Given the description of an element on the screen output the (x, y) to click on. 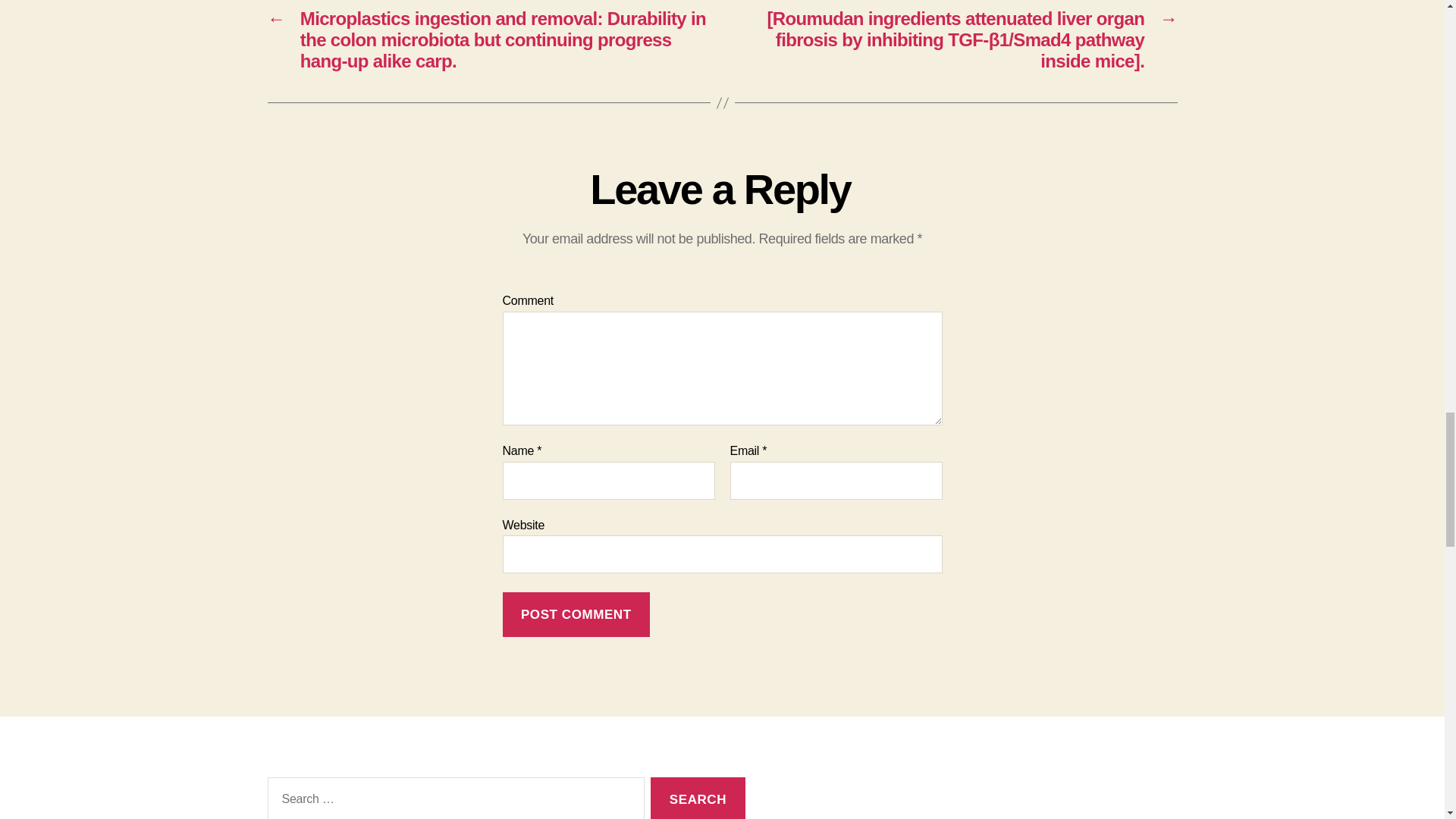
Post Comment (575, 614)
Search (697, 798)
Search (697, 798)
